Given the description of an element on the screen output the (x, y) to click on. 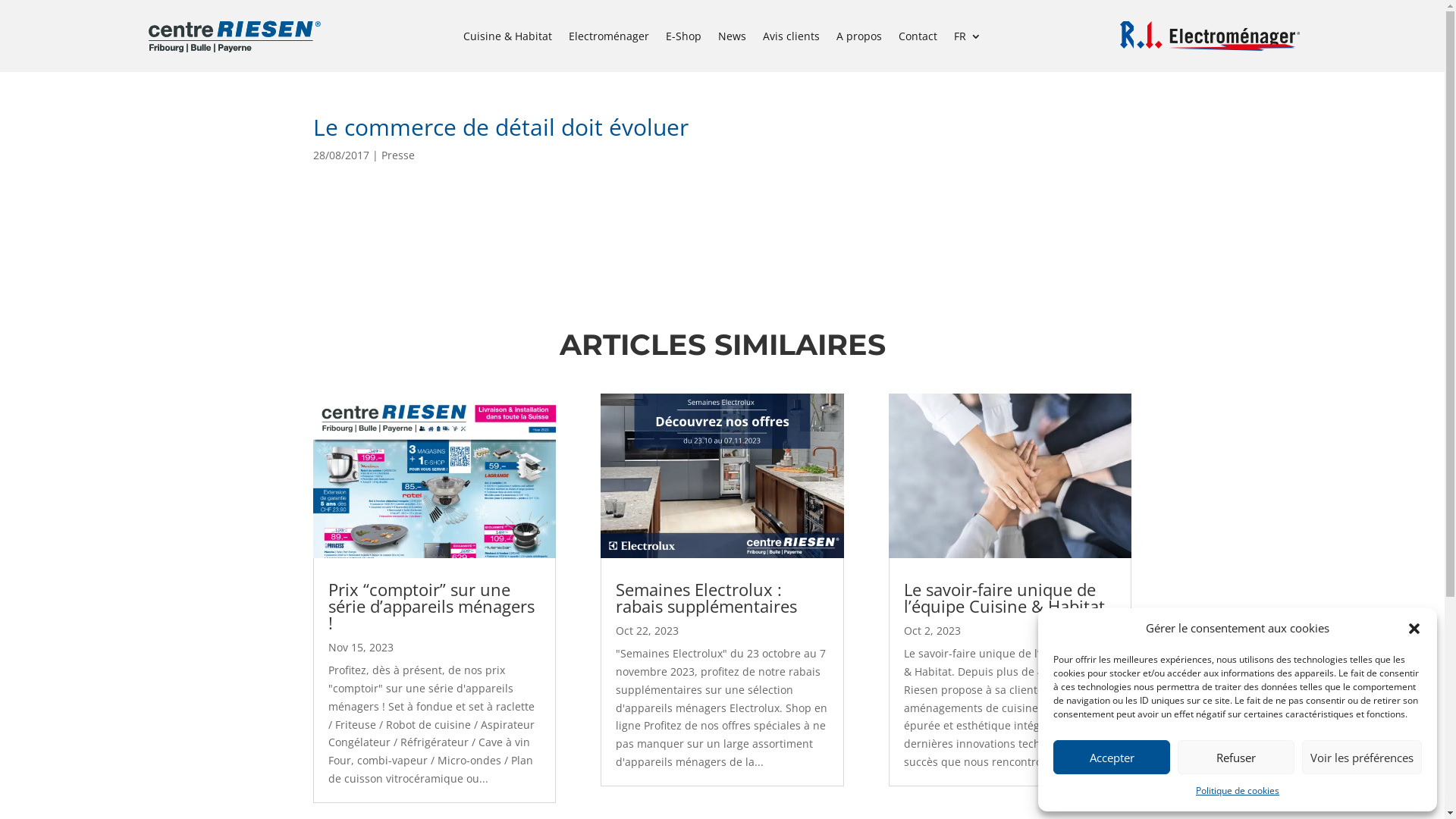
Contact Element type: text (917, 39)
FR Element type: text (967, 39)
Presse Element type: text (397, 154)
Refuser Element type: text (1235, 757)
Avis clients Element type: text (790, 39)
Accepter Element type: text (1111, 757)
logo RI_def Element type: hover (1210, 35)
A propos Element type: text (858, 39)
E-Shop Element type: text (683, 39)
Politique de cookies Element type: text (1237, 790)
News Element type: text (732, 39)
Riesen_logo_FribBullePayerne_cmjn Element type: hover (234, 35)
Cuisine & Habitat Element type: text (507, 39)
